Given the description of an element on the screen output the (x, y) to click on. 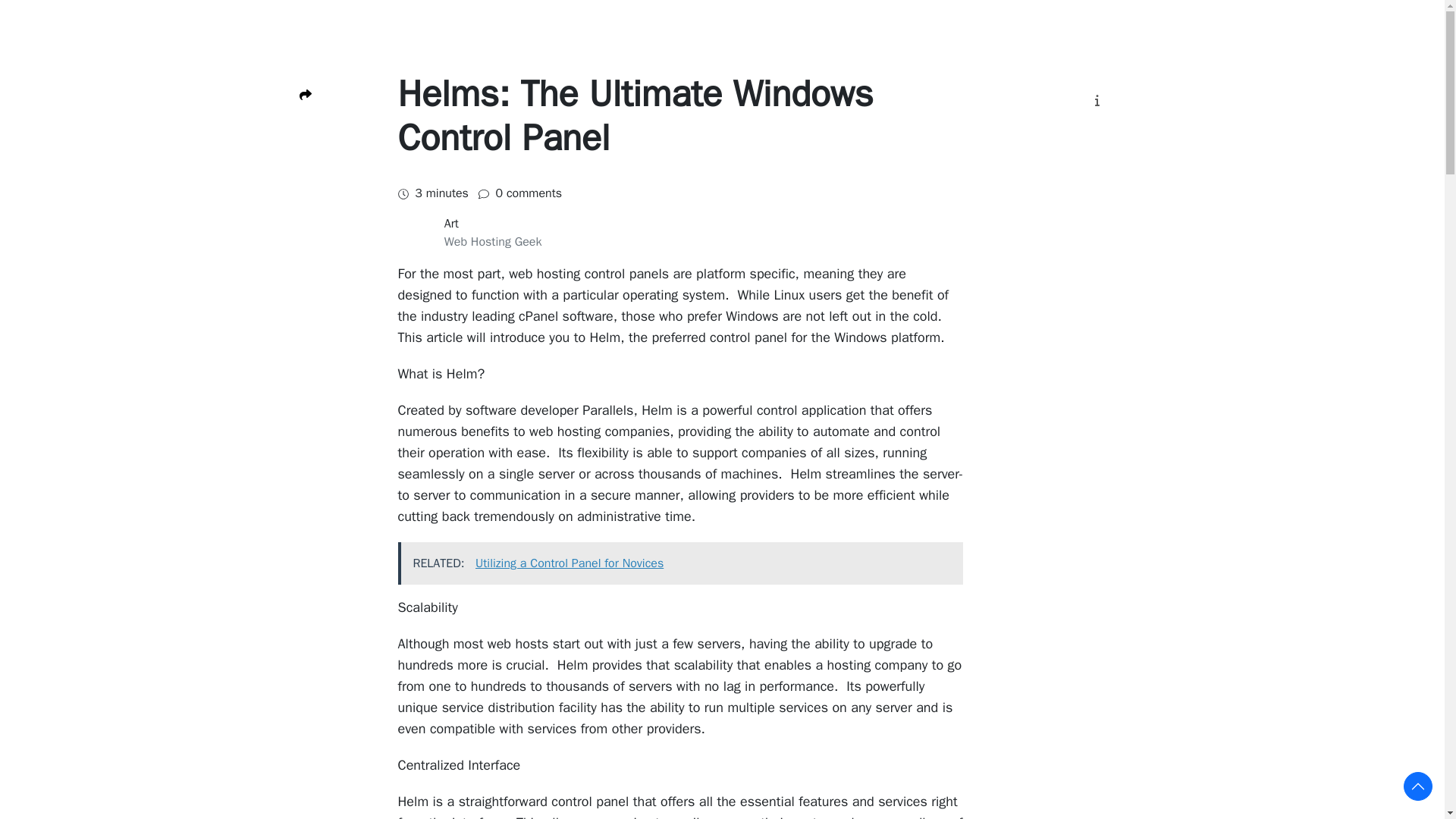
RELATED:   Utilizing a Control Panel for Novices (679, 563)
